Given the description of an element on the screen output the (x, y) to click on. 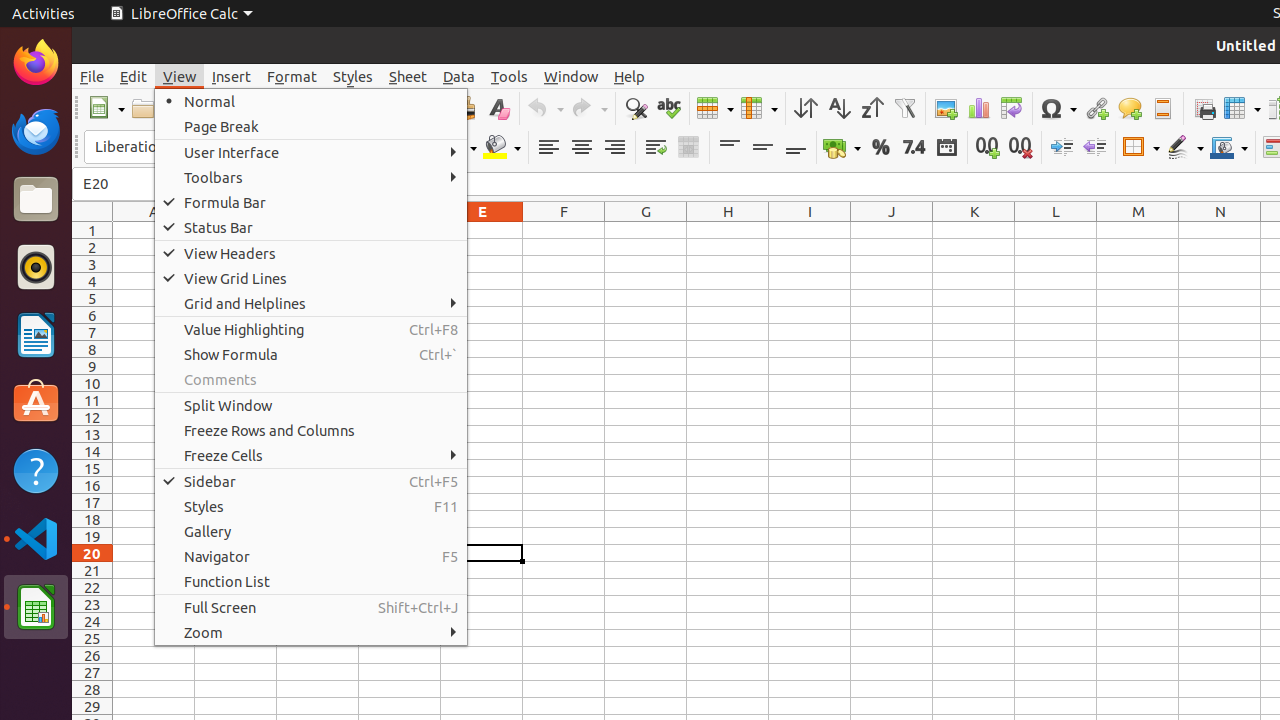
Styles Element type: menu (353, 76)
M1 Element type: table-cell (1138, 230)
Grid and Helplines Element type: menu (311, 303)
Sheet Element type: menu (408, 76)
Image Element type: push-button (945, 108)
